Given the description of an element on the screen output the (x, y) to click on. 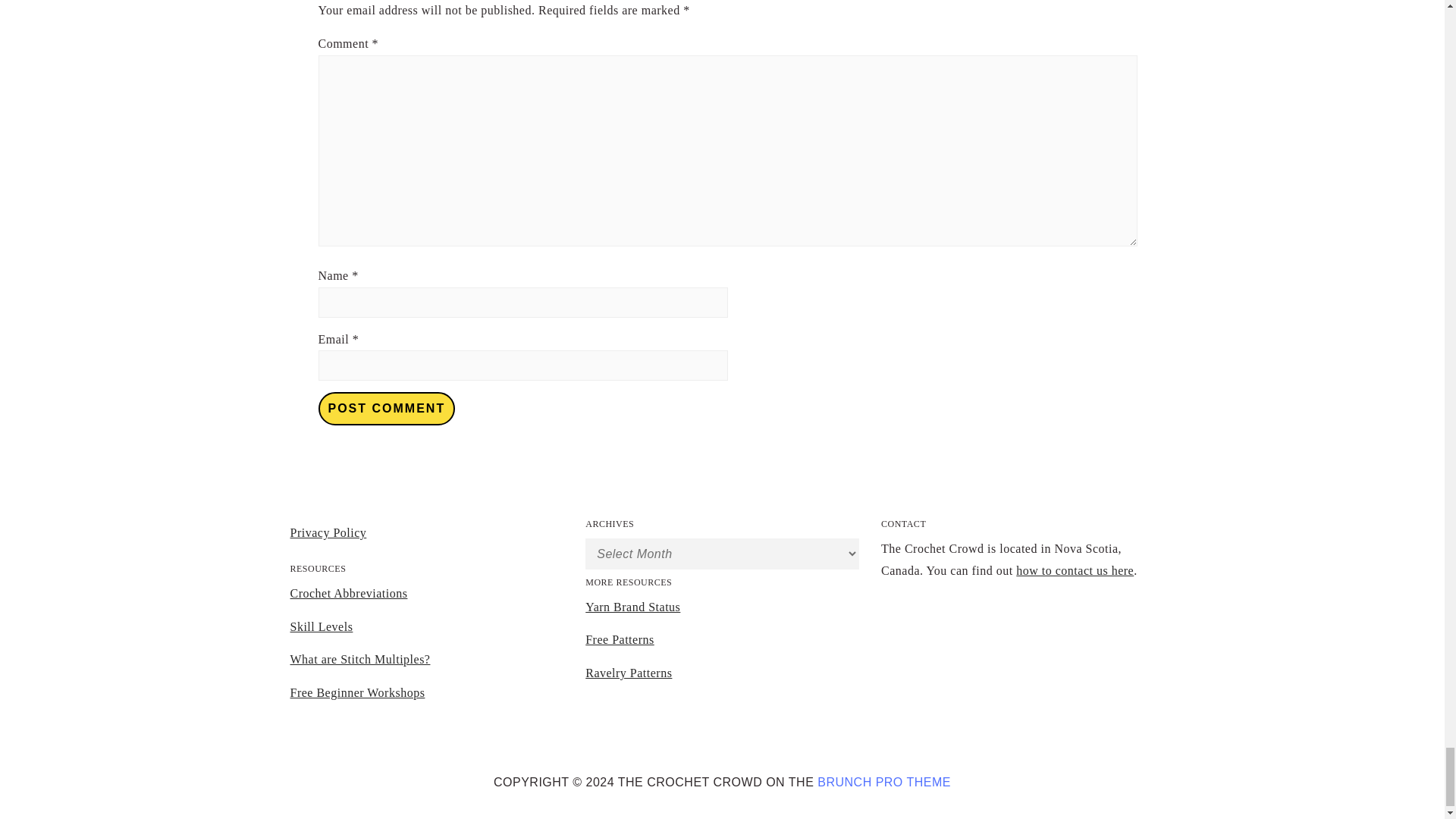
Post Comment (386, 408)
